Given the description of an element on the screen output the (x, y) to click on. 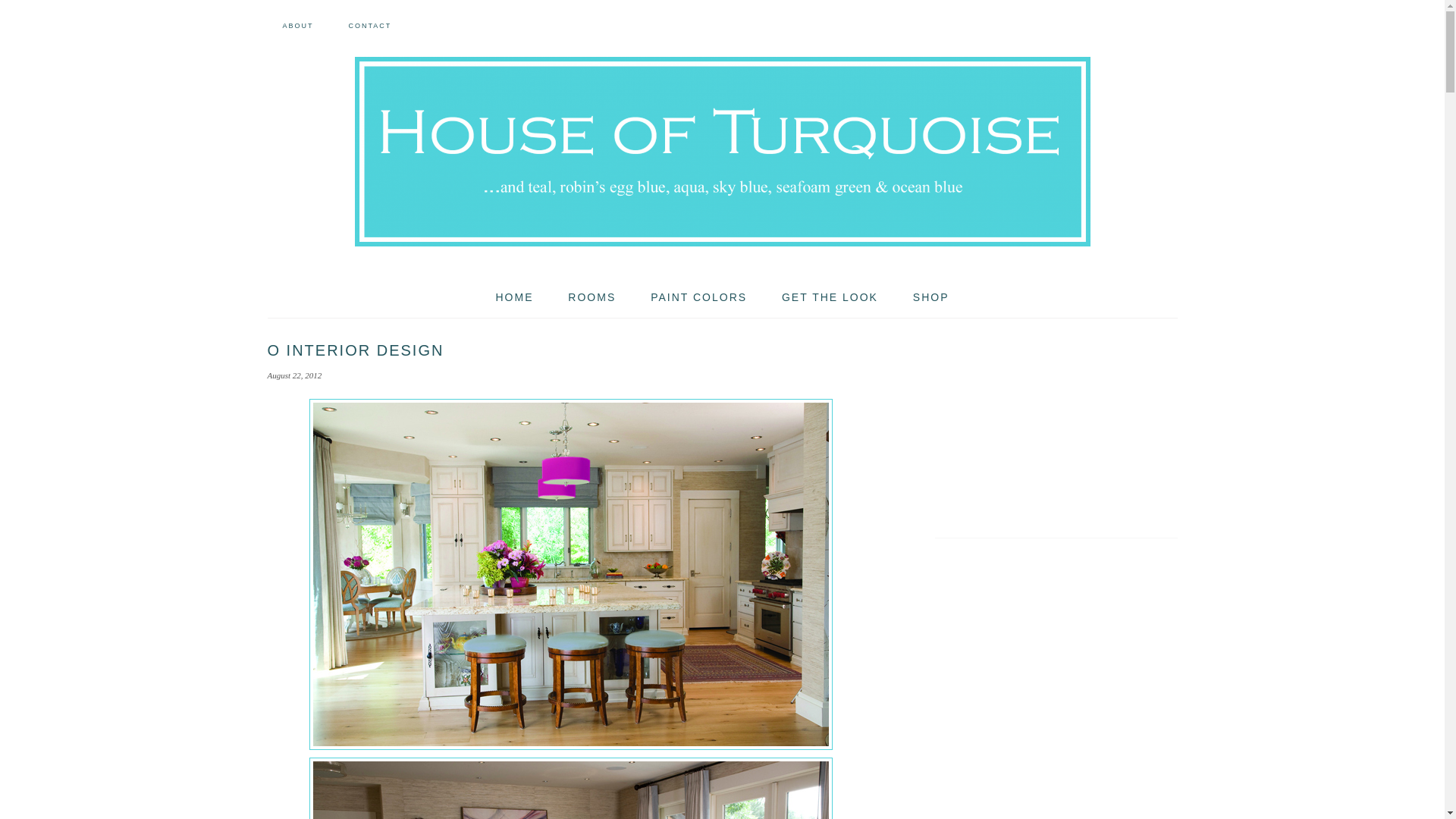
PAINT COLORS (697, 296)
GET THE LOOK (830, 296)
ABOUT (297, 26)
ROOMS (591, 296)
HOME (514, 296)
SHOP (930, 296)
CONTACT (369, 26)
